Given the description of an element on the screen output the (x, y) to click on. 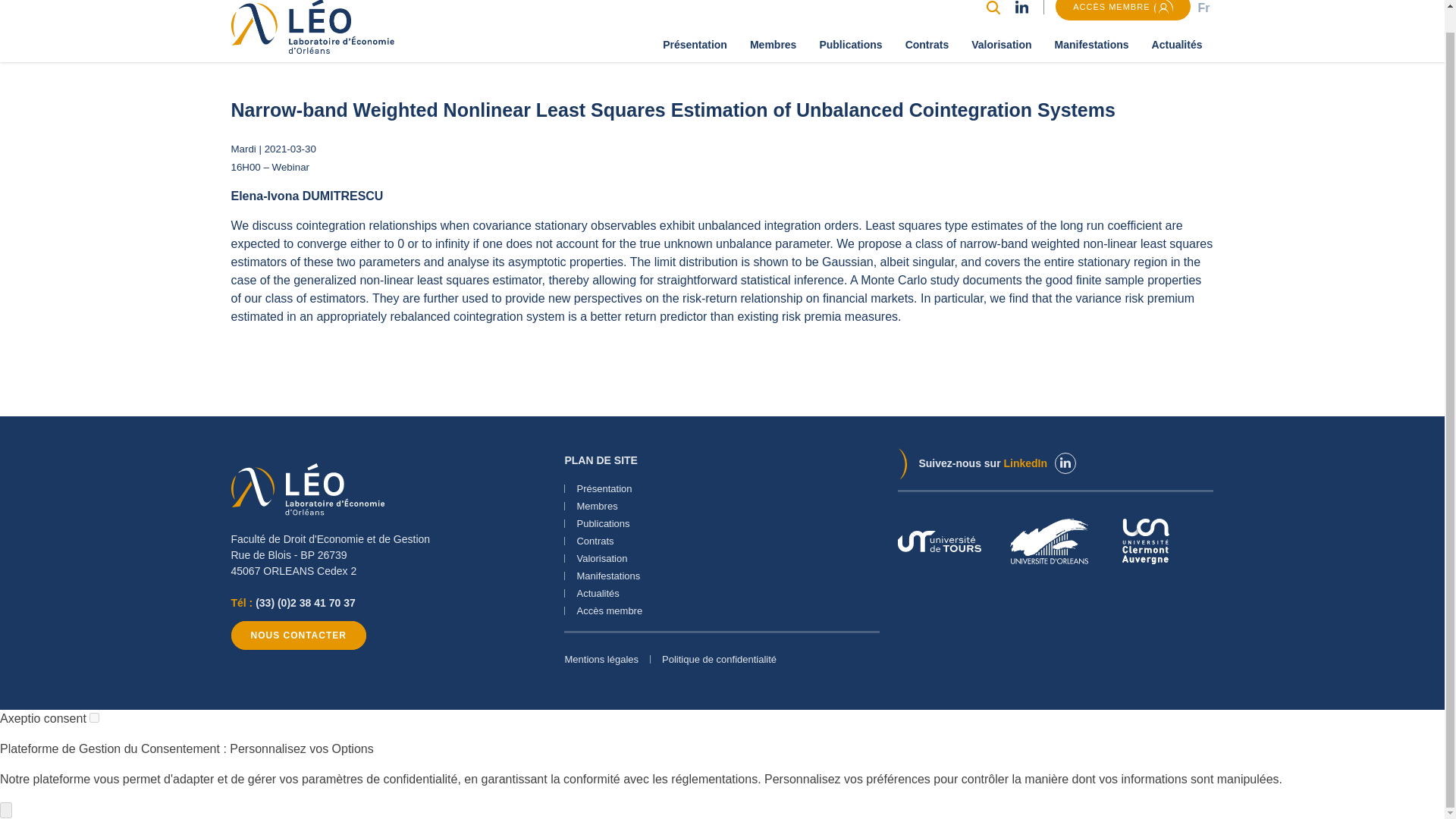
Manifestations (1091, 44)
Publications (850, 44)
Fr (1202, 7)
Contrats (926, 44)
Membres (773, 44)
Valorisation (1000, 44)
